Given the description of an element on the screen output the (x, y) to click on. 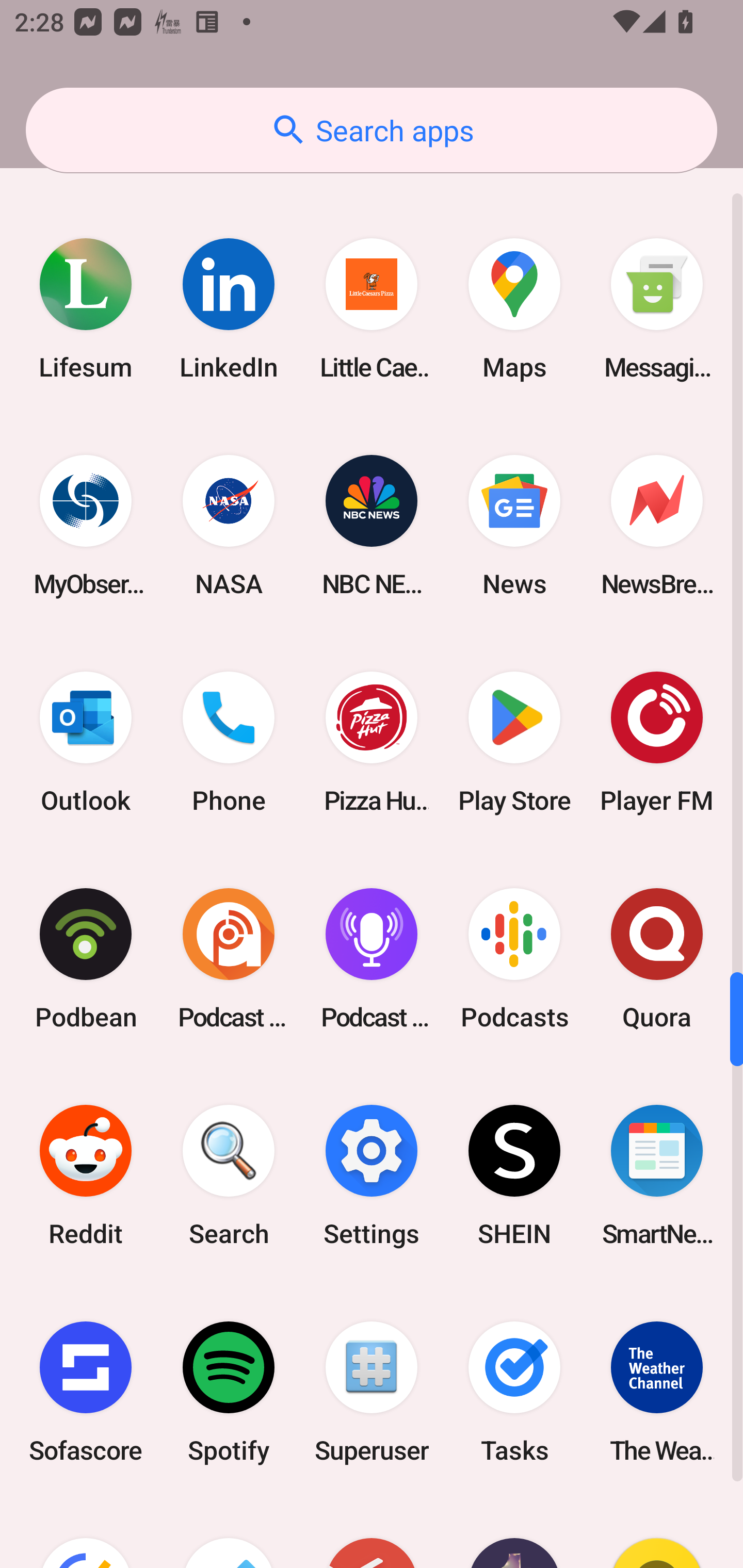
  Search apps (371, 130)
Lifesum (85, 308)
LinkedIn (228, 308)
Little Caesars Pizza (371, 308)
Maps (514, 308)
Messaging (656, 308)
MyObservatory (85, 525)
NASA (228, 525)
NBC NEWS (371, 525)
News (514, 525)
NewsBreak (656, 525)
Outlook (85, 741)
Phone (228, 741)
Pizza Hut HK & Macau (371, 741)
Play Store (514, 741)
Player FM (656, 741)
Podbean (85, 958)
Podcast Addict (228, 958)
Podcast Player (371, 958)
Podcasts (514, 958)
Quora (656, 958)
Reddit (85, 1175)
Search (228, 1175)
Settings (371, 1175)
SHEIN (514, 1175)
SmartNews (656, 1175)
Sofascore (85, 1392)
Spotify (228, 1392)
Superuser (371, 1392)
Tasks (514, 1392)
The Weather Channel (656, 1392)
